Given the description of an element on the screen output the (x, y) to click on. 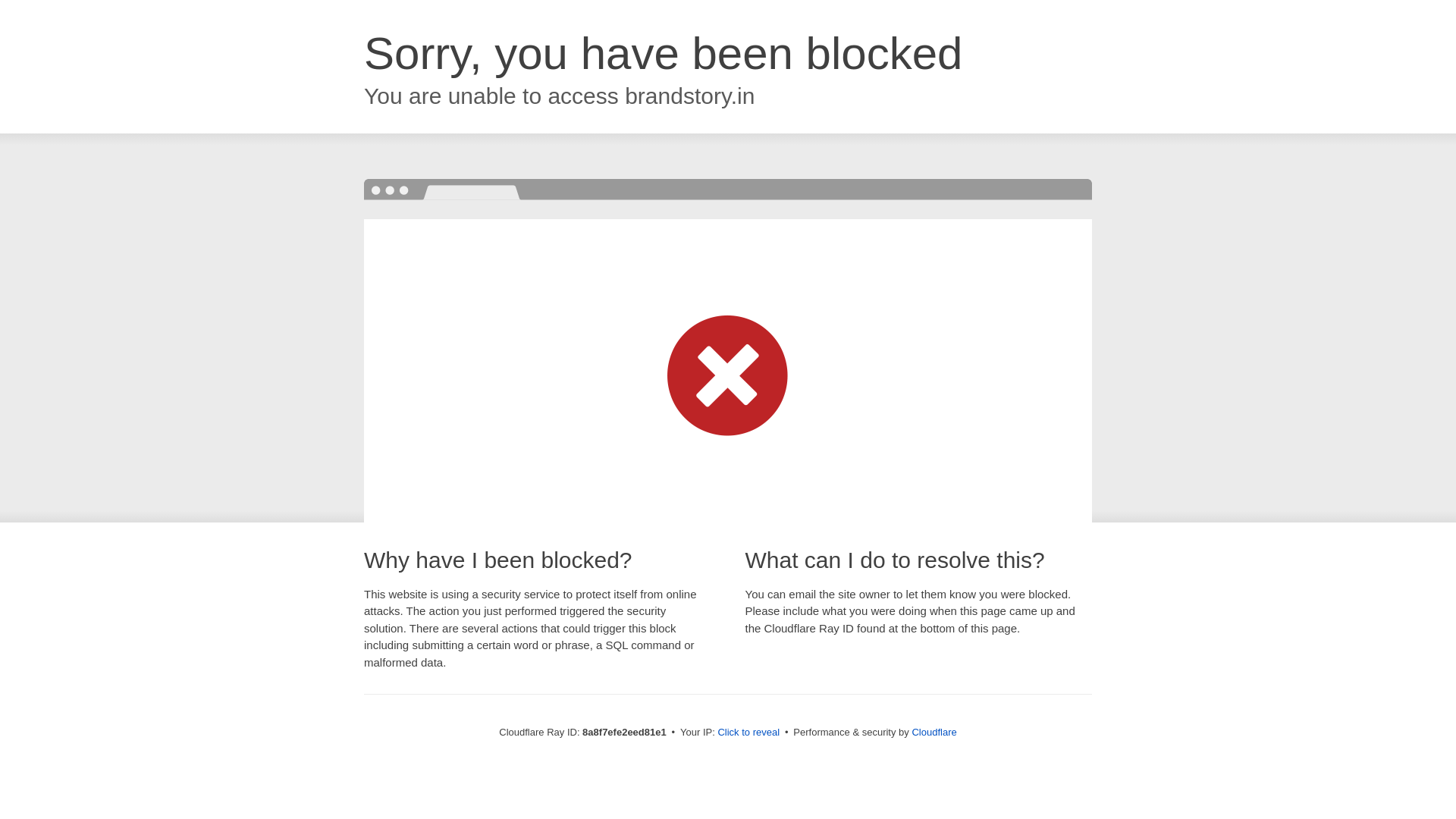
Click to reveal (747, 732)
Cloudflare (933, 731)
